Given the description of an element on the screen output the (x, y) to click on. 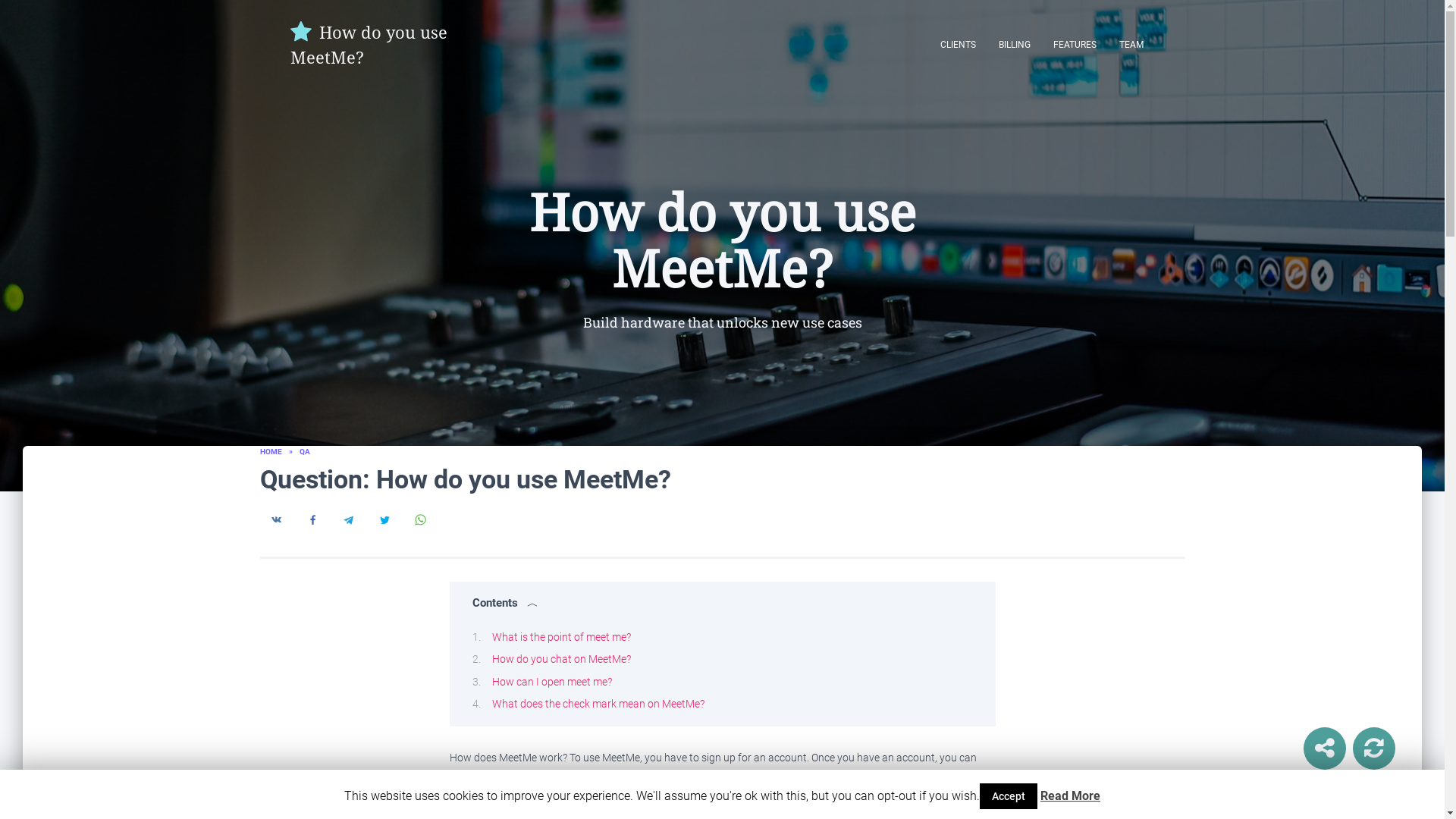
What is the point of meet me? (561, 636)
Read More (1070, 795)
Team (1130, 44)
Share Startup (1324, 748)
How do you use MeetMe? (379, 44)
FEATURES (1075, 44)
Accept (1007, 795)
Clients (957, 44)
BILLING (1014, 44)
Features (1075, 44)
How can I open meet me? (551, 680)
How do you chat on MeetMe? (561, 658)
How do you use MeetMe? (379, 44)
Billing (1014, 44)
TEAM (1130, 44)
